Given the description of an element on the screen output the (x, y) to click on. 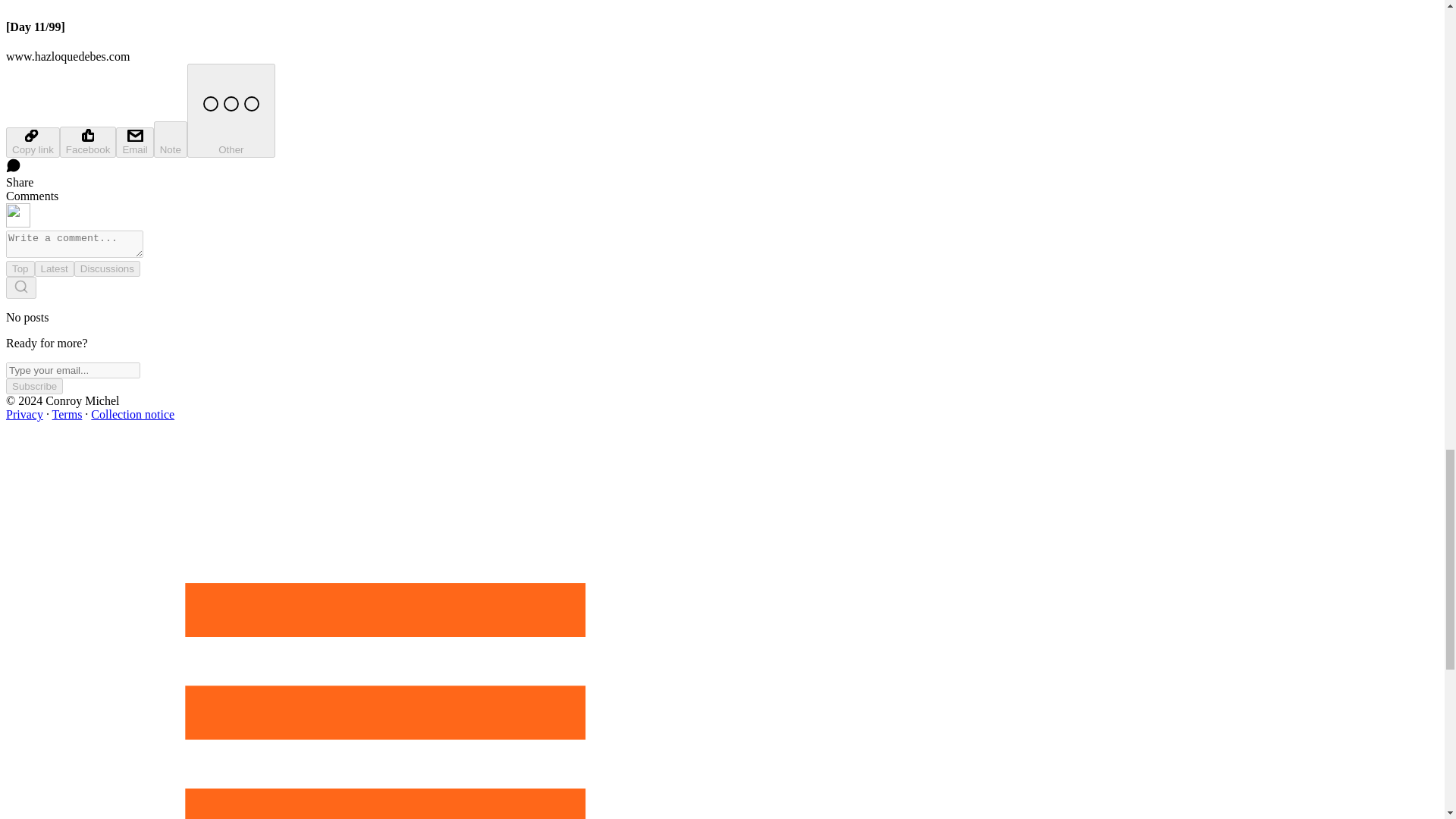
Email (134, 142)
Copy link (32, 142)
Other (231, 110)
Latest (54, 268)
Terms (67, 413)
Top (19, 268)
Discussions (106, 268)
Subscribe (33, 385)
Privacy (24, 413)
Facebook (87, 142)
Collection notice (132, 413)
Note (170, 139)
